Given the description of an element on the screen output the (x, y) to click on. 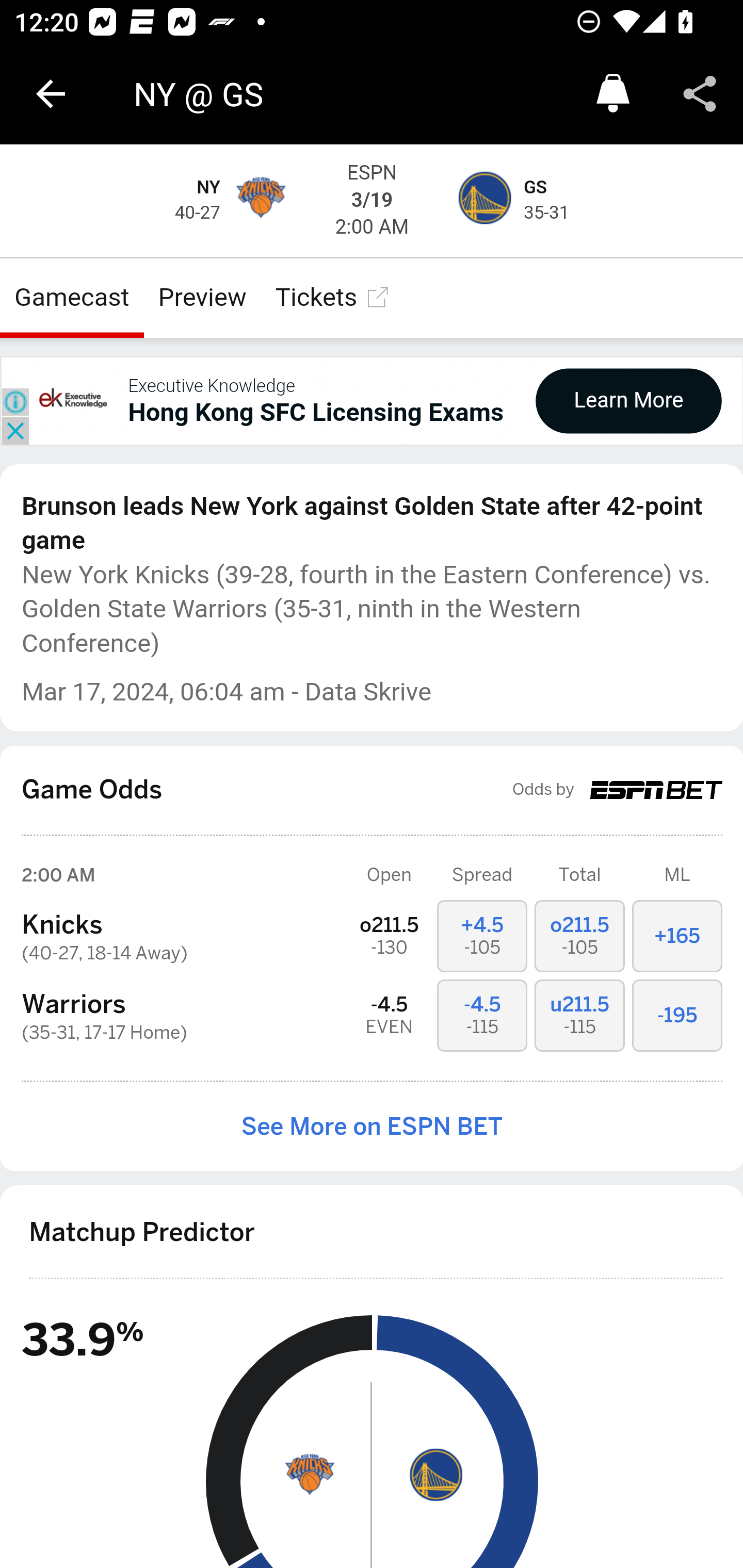
Navigate up (50, 93)
Alerts ì (612, 93)
Share (699, 93)
New York Knicks (260, 200)
Golden State Warriors (483, 200)
NY (208, 187)
GS (536, 187)
Gamecast (72, 296)
Tickets External Link Tickets External Link (333, 296)
Learn More (628, 400)
Executive Knowledge (211, 384)
Hong Kong SFC Licensing Exams (315, 412)
+4.5 -105 +4.5 -105 (481, 935)
o211.5 -105 o211.5 -105 (580, 935)
+165 (677, 935)
Knicks (61, 924)
-4.5 -115 -4.5 -115 (481, 1015)
u211.5 -115 u211.5 -115 (580, 1015)
-195 (677, 1015)
Warriors (73, 1004)
See More on ESPN BET (371, 1126)
New York Knicks (308, 1473)
Golden State Warriors (434, 1473)
